Given the description of an element on the screen output the (x, y) to click on. 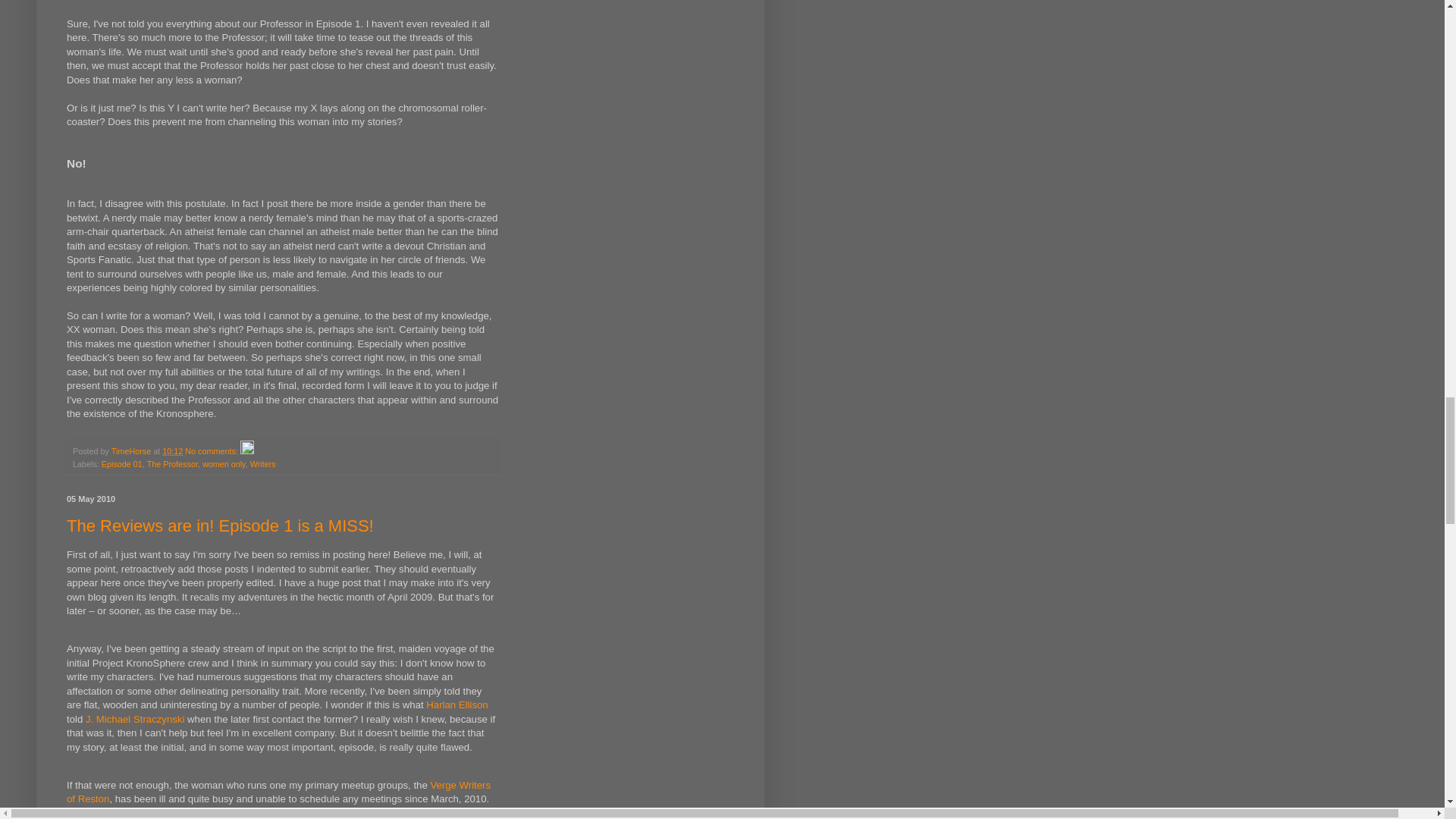
Edit Post (246, 450)
author profile (132, 450)
permanent link (172, 450)
